Given the description of an element on the screen output the (x, y) to click on. 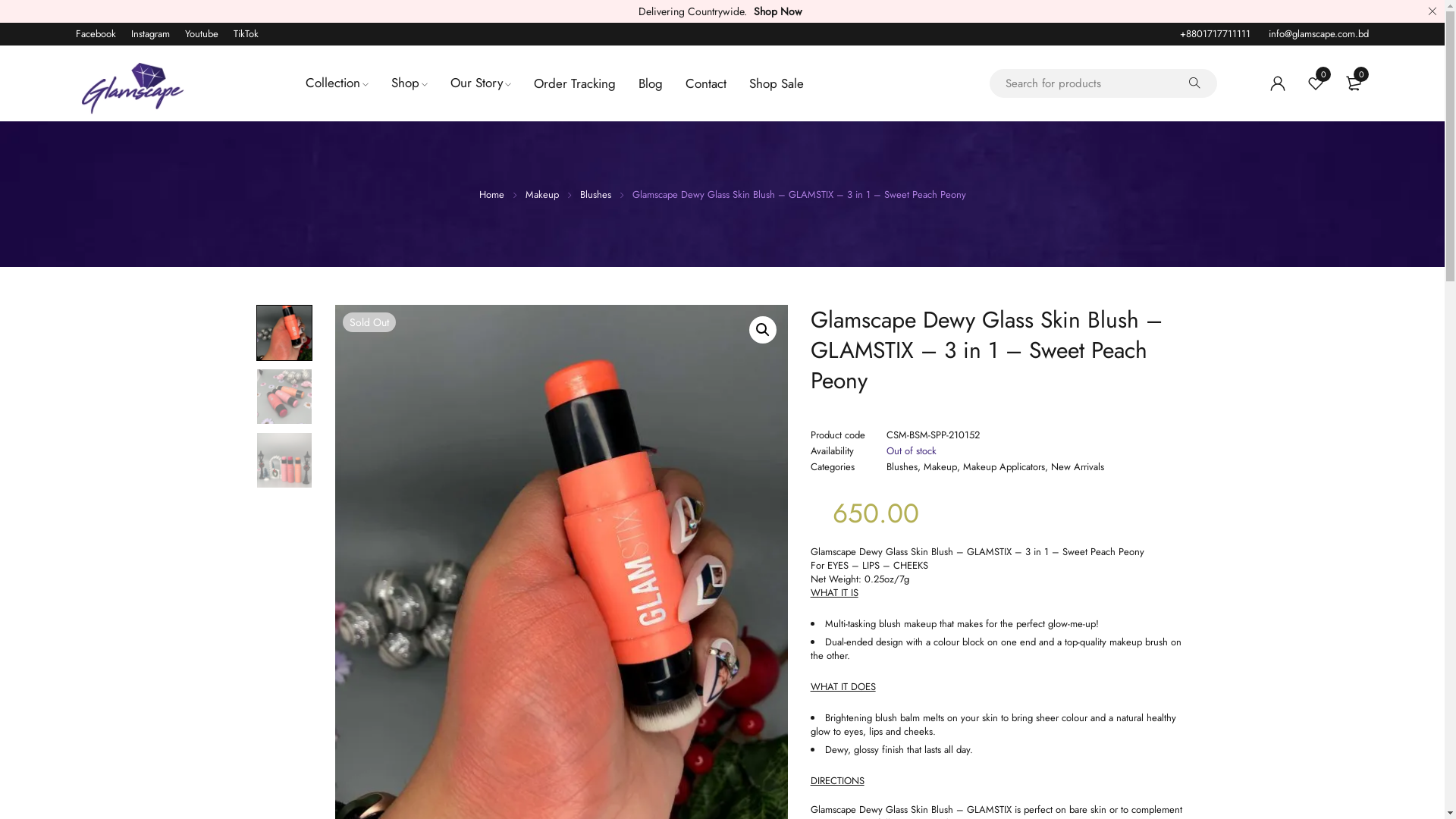
Collection Element type: text (336, 82)
Shop Element type: text (409, 82)
Makeup Applicators Element type: text (1003, 466)
info@glamscape.com.bd Element type: text (1318, 33)
Makeup Element type: text (541, 193)
Yobazar Element type: hover (132, 88)
Shop Sale Element type: text (776, 83)
New Arrivals Element type: text (1077, 466)
Home Element type: text (491, 193)
0 Element type: text (1315, 83)
0 Element type: text (1353, 83)
Blushes Element type: text (901, 466)
Contact Element type: text (705, 83)
TikTok Element type: text (245, 33)
Shop Now Element type: text (777, 10)
Instagram Element type: text (150, 33)
Search Element type: text (53, 17)
Order Tracking Element type: text (574, 83)
Blushes Element type: text (594, 193)
Facebook Element type: text (95, 33)
Our Story Element type: text (480, 82)
Makeup Element type: text (940, 466)
Youtube Element type: text (201, 33)
Blog Element type: text (650, 83)
Login/Register Element type: hover (1277, 83)
